Given the description of an element on the screen output the (x, y) to click on. 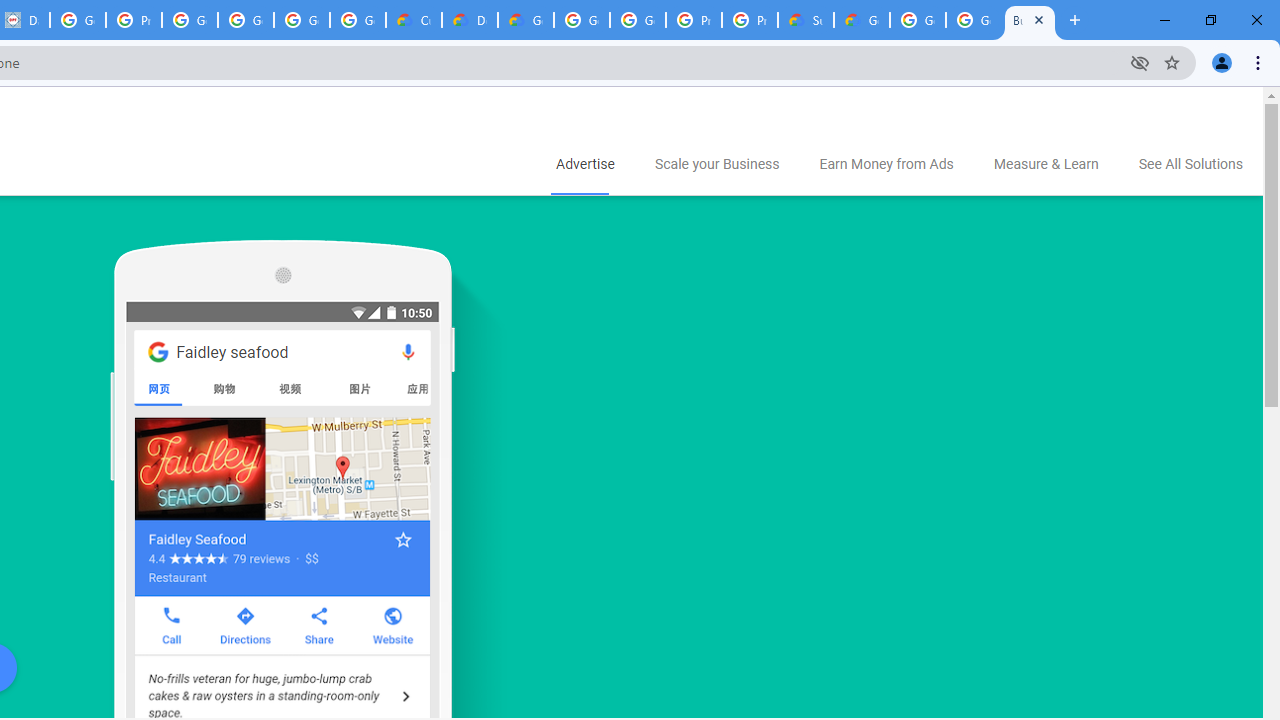
Google Cloud Platform (973, 20)
Google Cloud Platform (637, 20)
Gemini for Business and Developers | Google Cloud (525, 20)
Earn Money from Ads (886, 165)
Measure & Learn (1046, 165)
Google Cloud Service Health (861, 20)
Google Workspace - Specific Terms (358, 20)
Google Workspace - Specific Terms (301, 20)
Support Hub | Google Cloud (806, 20)
